Given the description of an element on the screen output the (x, y) to click on. 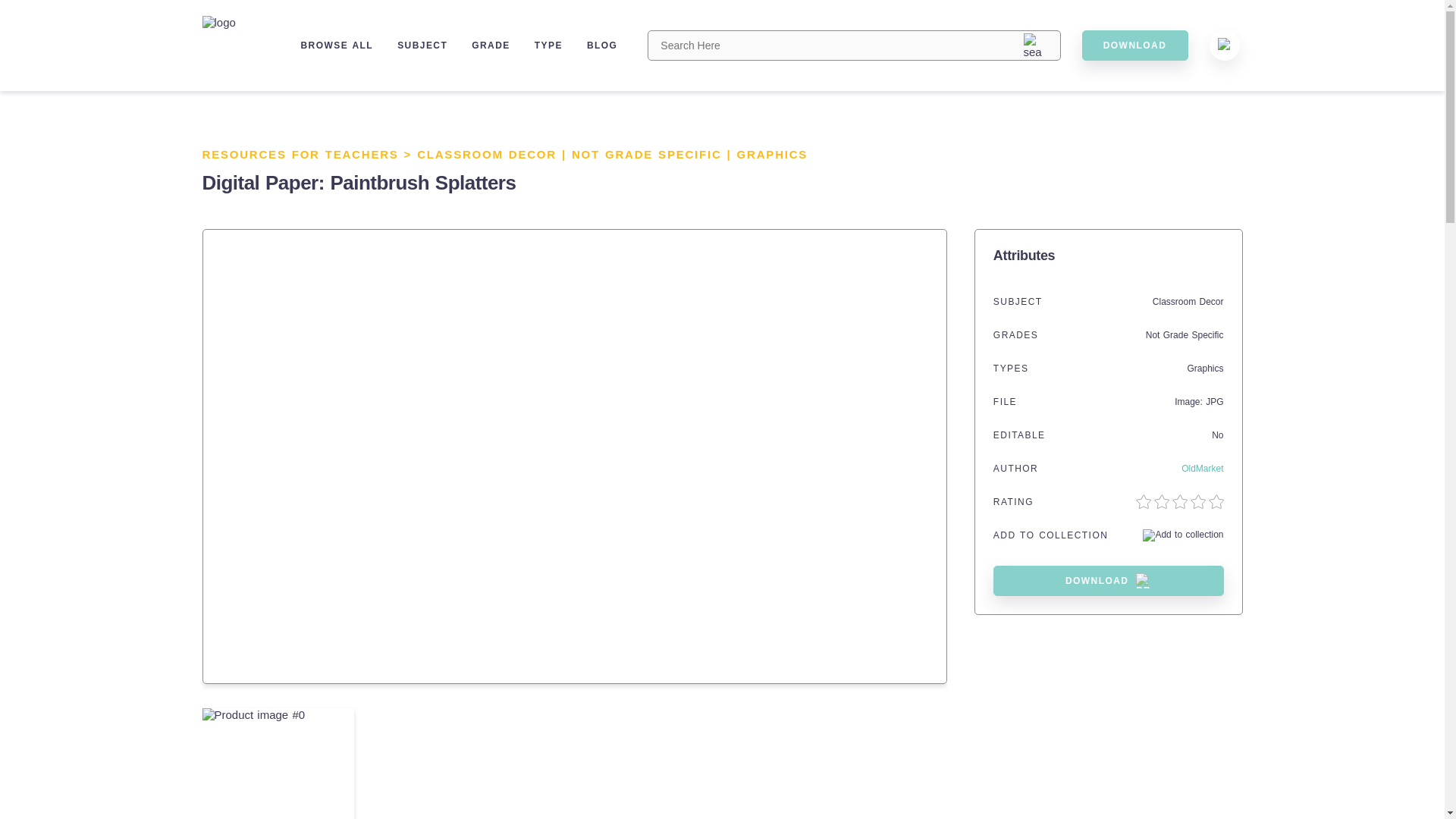
NOT GRADE SPECIFIC (647, 154)
OldMarket (1201, 468)
Image: JPG (1198, 401)
Classroom Decor (1188, 301)
Graphics (1204, 368)
BLOG (601, 45)
DOWNLOAD (1108, 580)
RESOURCES FOR TEACHERS (299, 154)
Not Grade Specific (1184, 335)
GRAPHICS (772, 154)
CLASSROOM DECOR (486, 154)
DOWNLOAD (1134, 45)
